Given the description of an element on the screen output the (x, y) to click on. 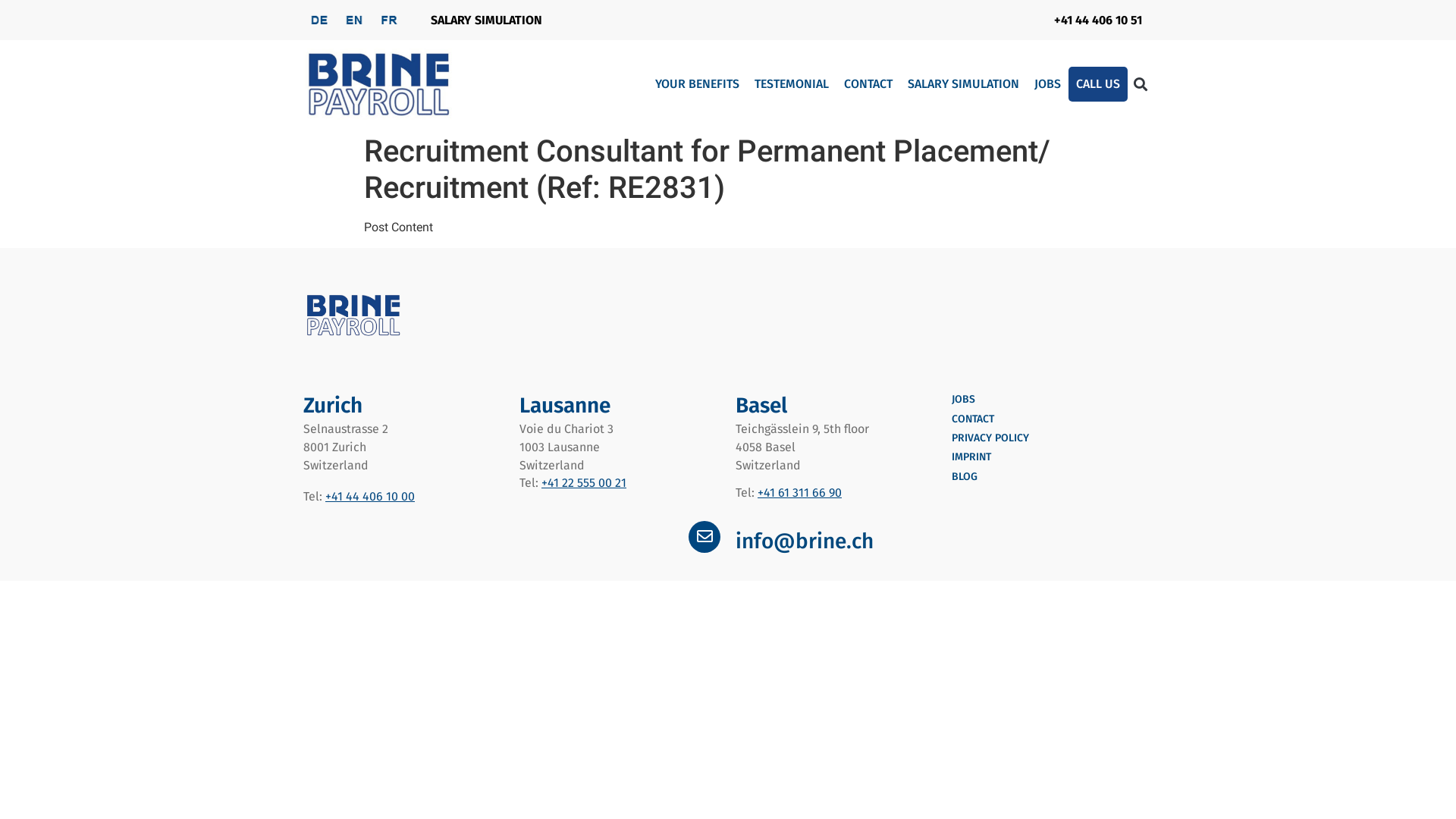
+41 44 406 10 51 Element type: text (1097, 19)
+41 22 555 00 21 Element type: text (583, 482)
SALARY SIMULATION Element type: text (963, 83)
LEAD Technologies Inc. V1.01 Element type: hover (382, 83)
PRIVACY POLICY Element type: text (990, 437)
YOUR BENEFITS Element type: text (696, 83)
+41 61 311 66 90 Element type: text (799, 492)
CONTACT Element type: text (868, 83)
+41 44 406 10 00 Element type: text (369, 496)
SALARY SIMULATION Element type: text (486, 19)
BLOG Element type: text (964, 476)
JOBS Element type: text (963, 398)
info@brine.ch Element type: text (804, 540)
CONTACT Element type: text (972, 418)
CALL US Element type: text (1097, 83)
TESTEMONIAL Element type: text (791, 83)
IMPRINT Element type: text (971, 456)
JOBS Element type: text (1047, 83)
